Given the description of an element on the screen output the (x, y) to click on. 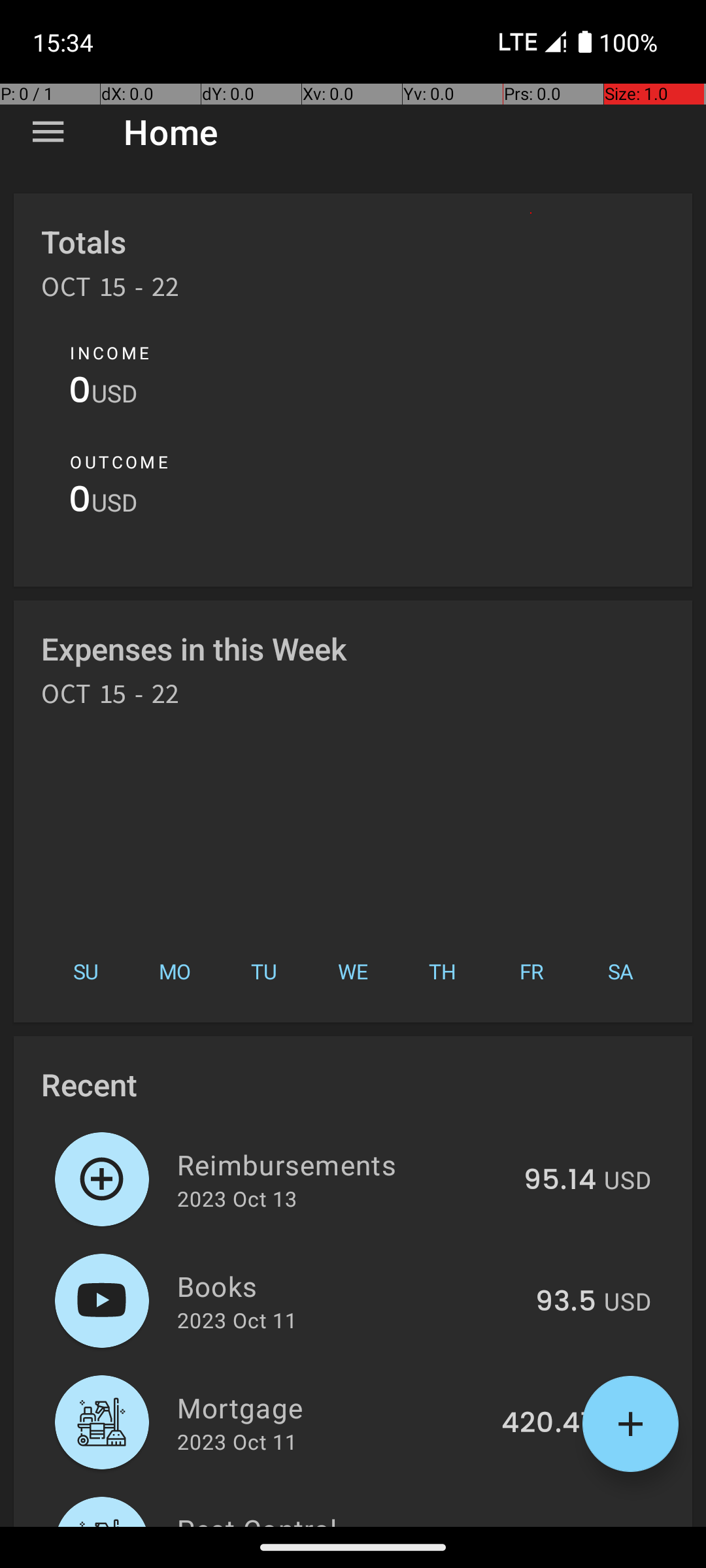
Reimbursements Element type: android.widget.TextView (342, 1164)
95.14 Element type: android.widget.TextView (559, 1180)
Books Element type: android.widget.TextView (348, 1285)
93.5 Element type: android.widget.TextView (565, 1301)
Mortgage Element type: android.widget.TextView (331, 1407)
420.47 Element type: android.widget.TextView (548, 1423)
Pest Control Element type: android.widget.TextView (333, 1518)
372.28 Element type: android.widget.TextView (550, 1524)
